Given the description of an element on the screen output the (x, y) to click on. 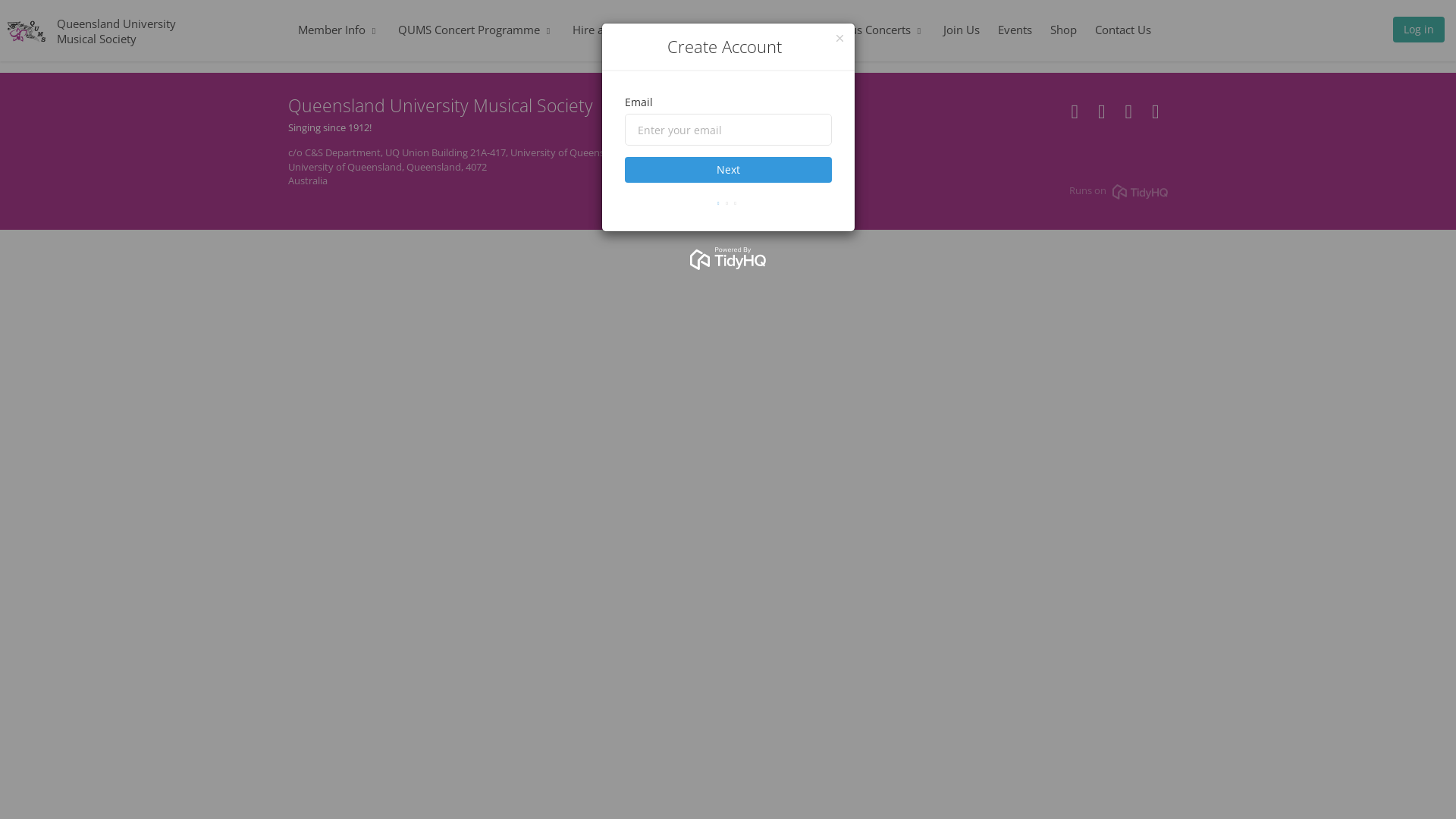
Shop Element type: text (1062, 29)
Queensland University Musical Society Element type: text (115, 30)
Member Info Element type: text (337, 29)
UCguKKSylsWVZYhxH9i8gvnQ Element type: hover (1155, 114)
qumsau Element type: hover (1100, 114)
About Element type: text (674, 29)
Events Element type: text (1014, 29)
Log in Element type: text (1418, 32)
Hire a Choir Element type: text (602, 29)
Next Concert Element type: text (756, 29)
Join Us Element type: text (961, 29)
Previous Concerts Element type: text (869, 29)
qums.au Element type: hover (1128, 114)
QUMS Concert Programme Element type: text (475, 29)
Contact Us Element type: text (1122, 29)
http://qums.org.au Element type: hover (1074, 114)
